Given the description of an element on the screen output the (x, y) to click on. 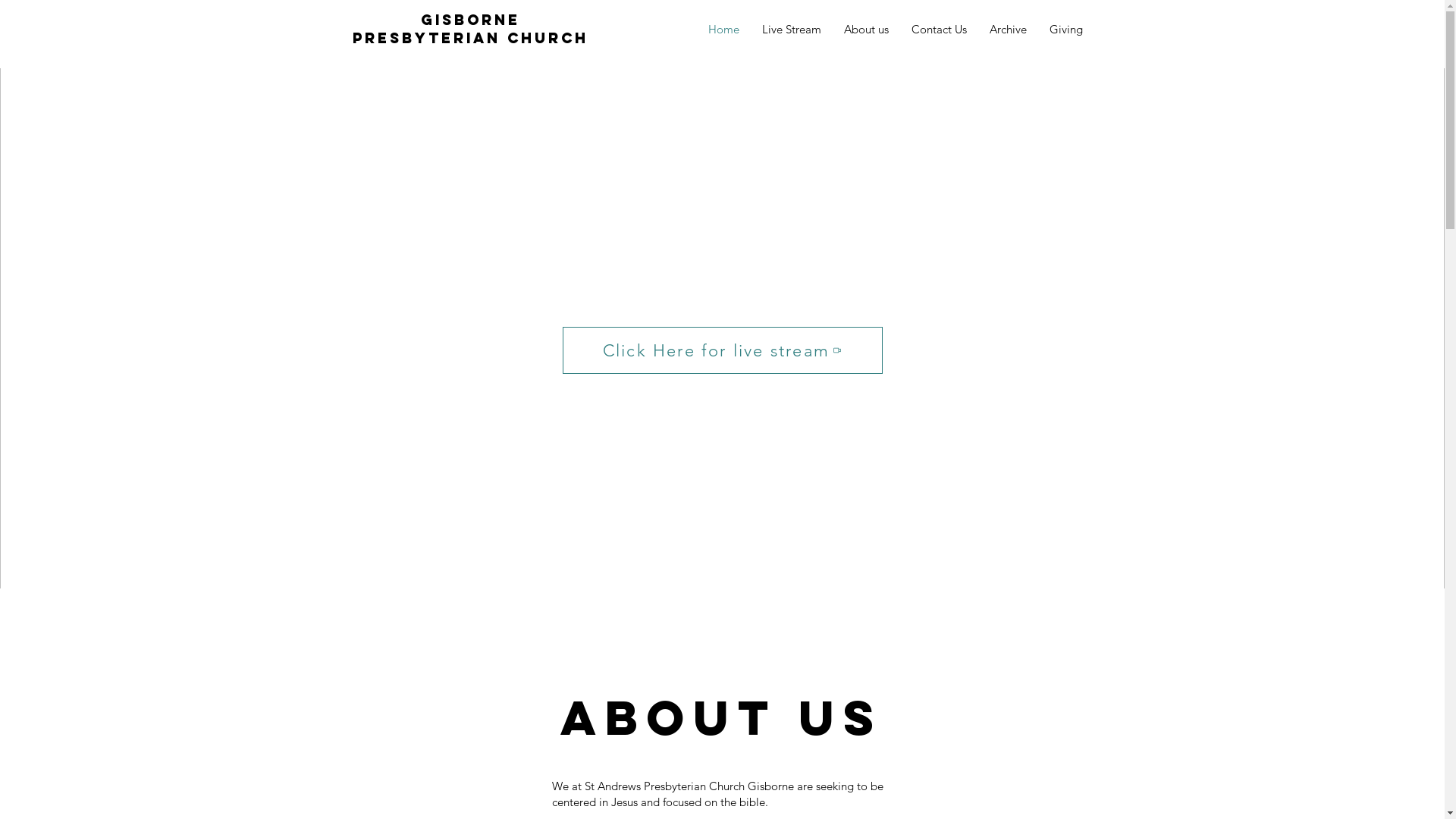
Giving Element type: text (1065, 29)
Archive Element type: text (1008, 29)
Contact Us Element type: text (938, 29)
About us Element type: text (866, 29)
TWIPLA (Visitor Analytics) Element type: hover (1442, 4)
Click Here for live stream Element type: text (722, 349)
Live Stream Element type: text (791, 29)
Home Element type: text (722, 29)
